Given the description of an element on the screen output the (x, y) to click on. 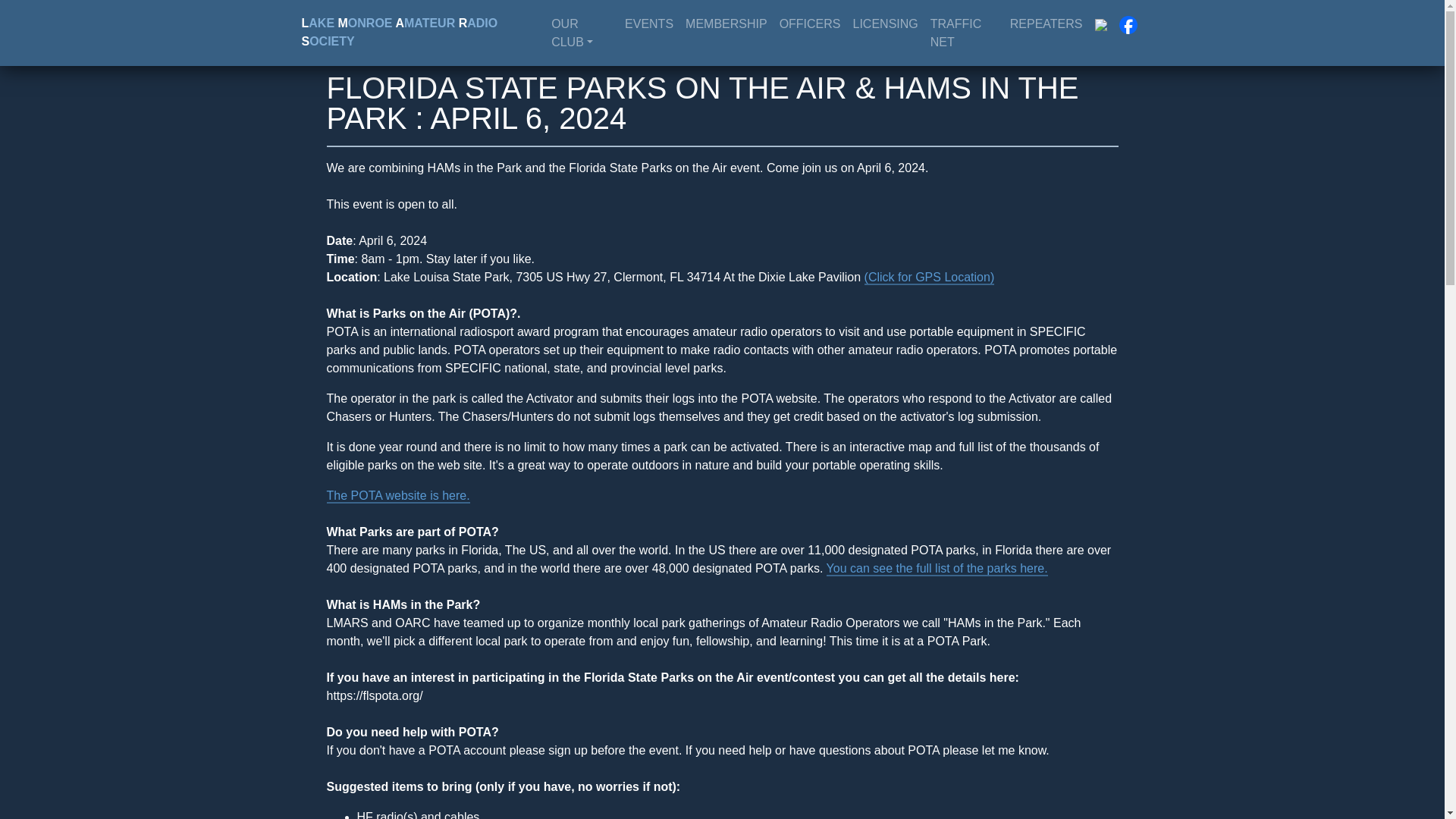
REPEATERS (1046, 24)
LICENSING (885, 24)
OFFICERS (810, 24)
MEMBERSHIP (726, 24)
EVENTS (648, 24)
MEMBERSHIP (726, 24)
REPEATERS (1046, 24)
The POTA website is here. (397, 495)
LAKE MONROE AMATEUR RADIO SOCIETY (423, 32)
LAKE MONROE AMATEUR RADIO SOCIETY (423, 32)
